Given the description of an element on the screen output the (x, y) to click on. 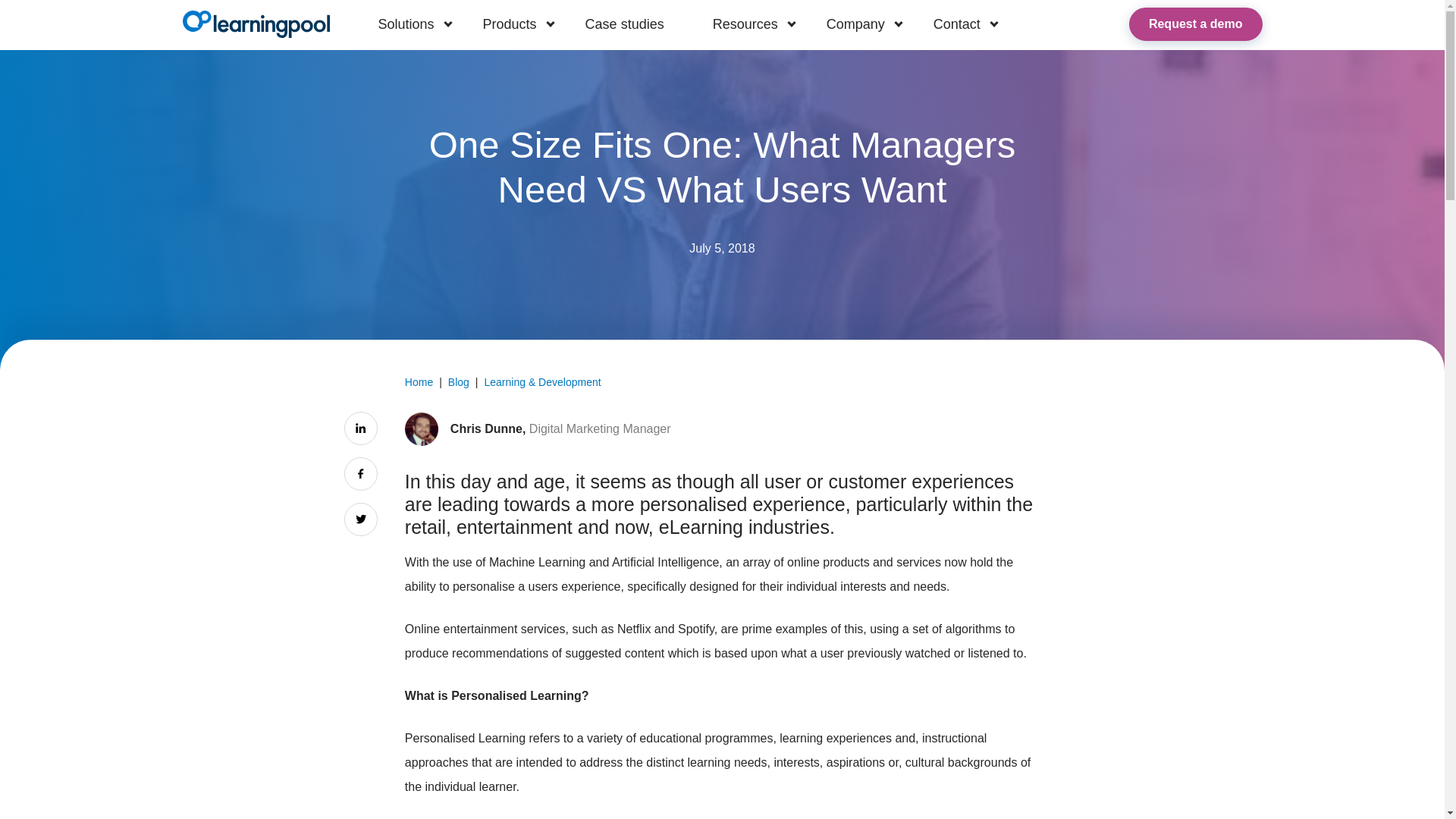
Go to Learning Pool. (418, 381)
Facebook (360, 473)
Go to Blog. (458, 381)
LinkedIn (360, 428)
Twitter (360, 519)
